Given the description of an element on the screen output the (x, y) to click on. 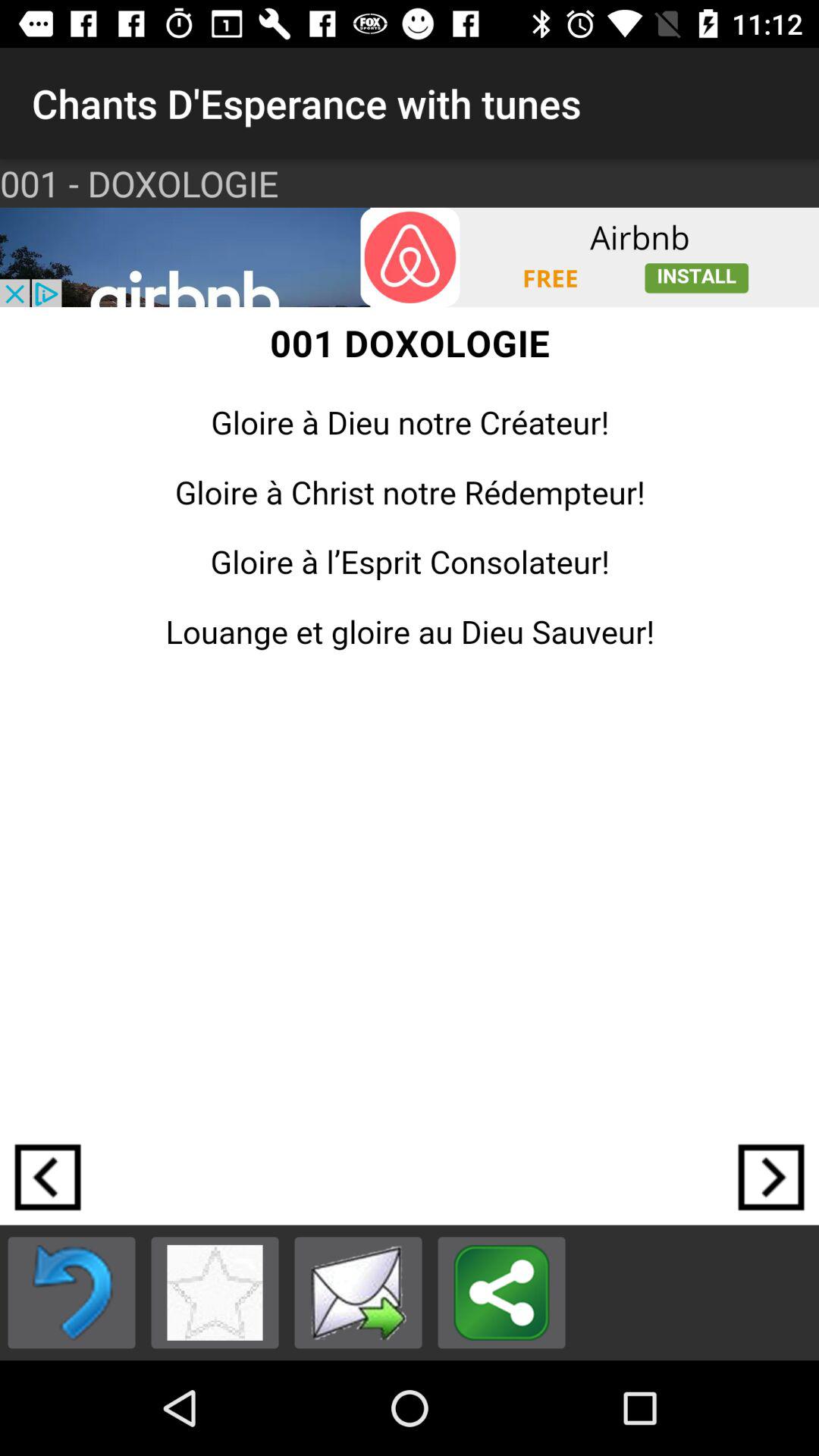
send mail (357, 1292)
